Given the description of an element on the screen output the (x, y) to click on. 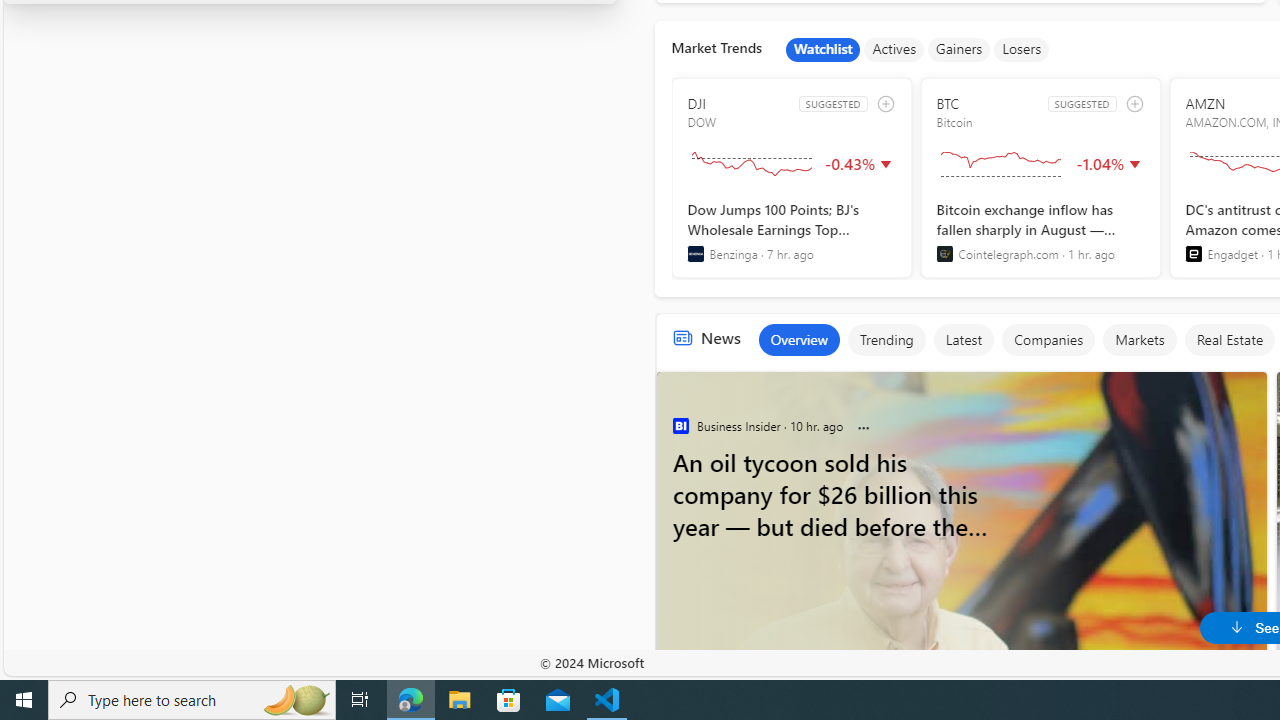
Watchlist (823, 49)
Benzinga (695, 254)
add to watchlist (1133, 103)
Dow Jumps 100 Points; BJ's Wholesale Earnings Top Estimates (791, 231)
Engadget (1193, 254)
Overview (798, 339)
